Given the description of an element on the screen output the (x, y) to click on. 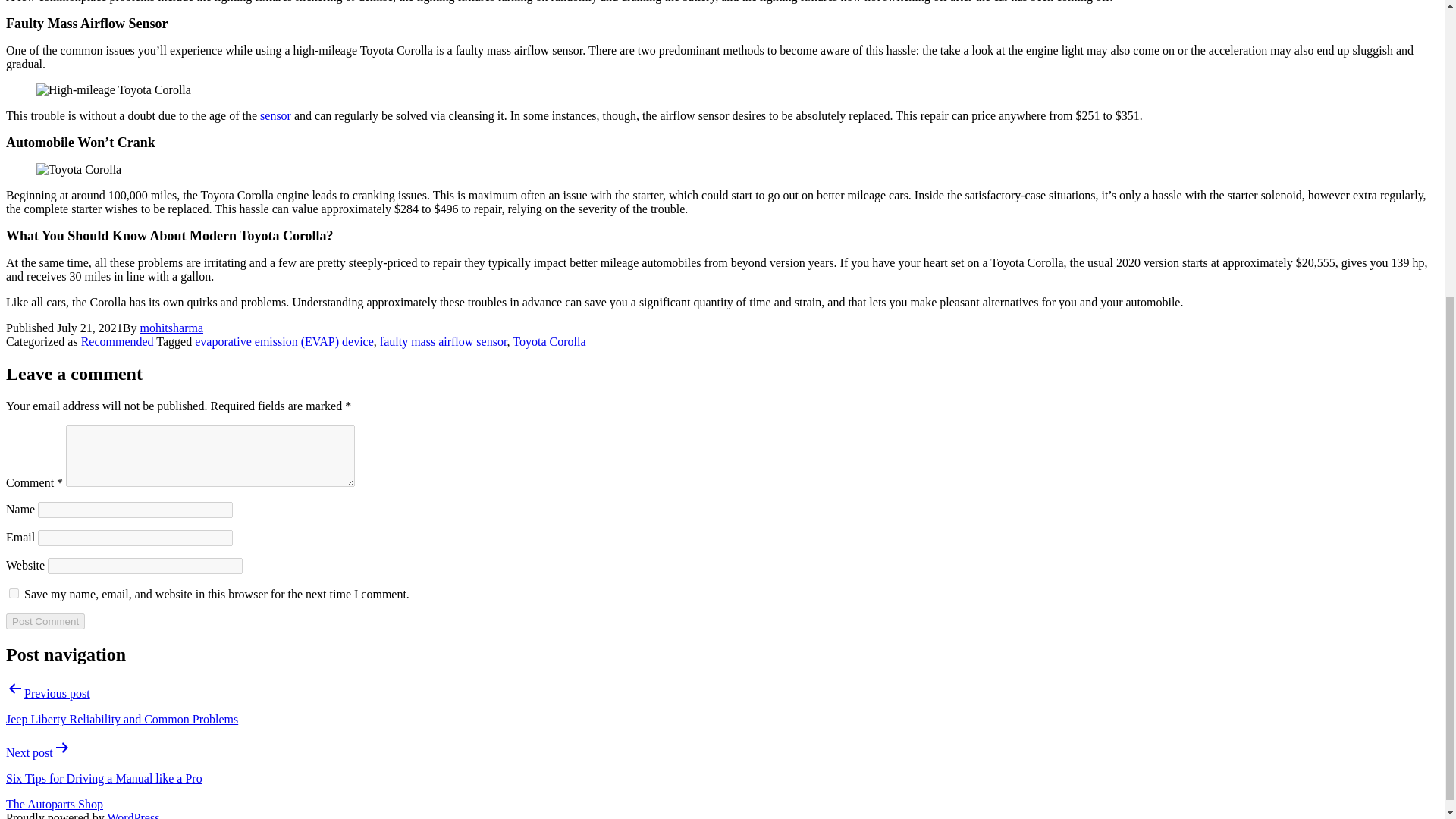
Post Comment (44, 621)
Recommended (117, 341)
sensor (277, 115)
Post Comment (44, 621)
yes (13, 593)
Toyota Corolla (548, 341)
mohitsharma (171, 327)
The Autoparts Shop (54, 803)
faulty mass airflow sensor (443, 341)
